Given the description of an element on the screen output the (x, y) to click on. 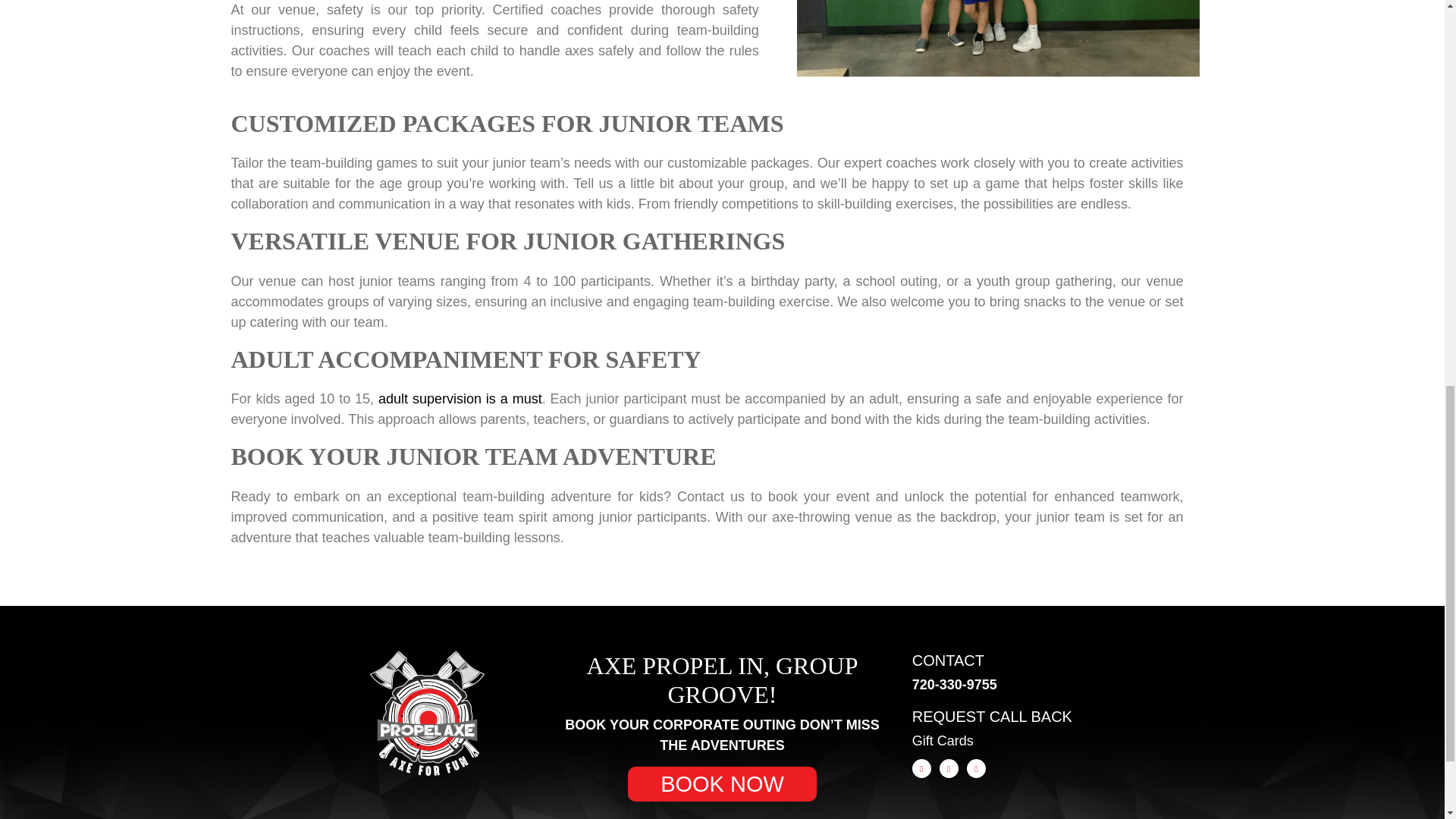
adult supervision is a must (459, 398)
BOOK NOW (721, 783)
Youtube (975, 768)
Gift Cards (943, 740)
Instagram (948, 768)
720-330-9755 (954, 684)
Facebook (921, 768)
